Given the description of an element on the screen output the (x, y) to click on. 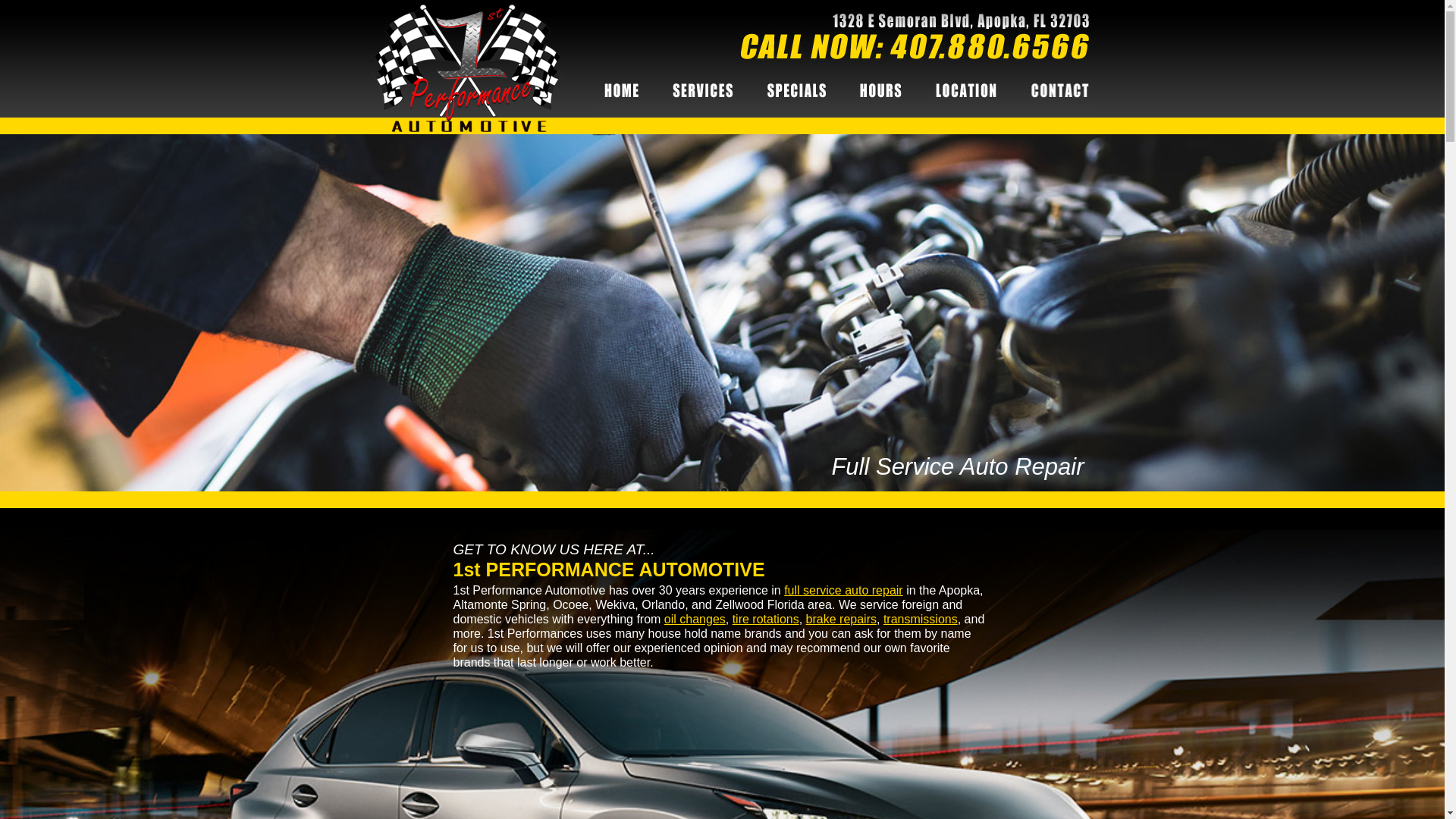
oil changes Element type: text (694, 618)
full service auto repair Element type: text (843, 589)
tire rotations Element type: text (765, 618)
brake repairs Element type: text (841, 618)
Full Service Auto Repair Element type: text (957, 466)
transmissions Element type: text (920, 618)
